Given the description of an element on the screen output the (x, y) to click on. 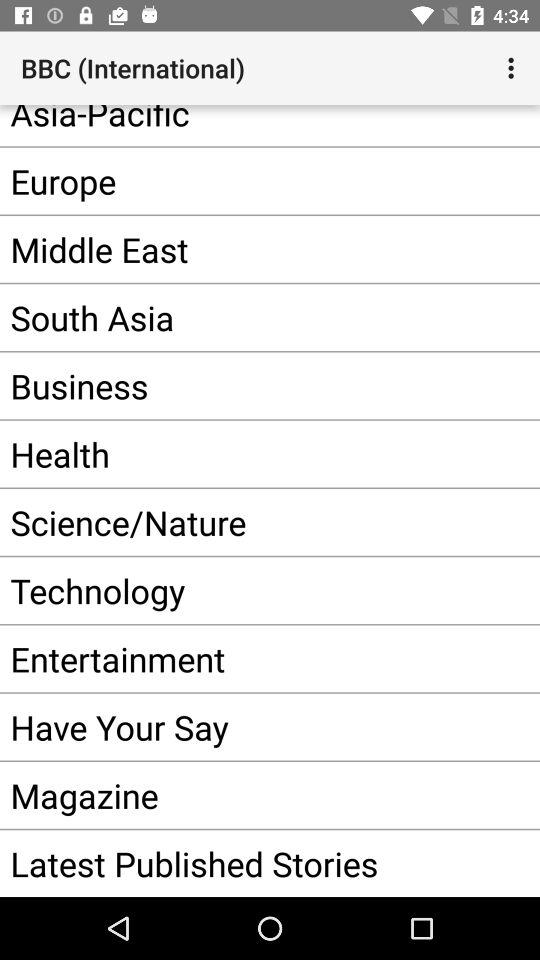
open the item below south asia app (240, 385)
